Given the description of an element on the screen output the (x, y) to click on. 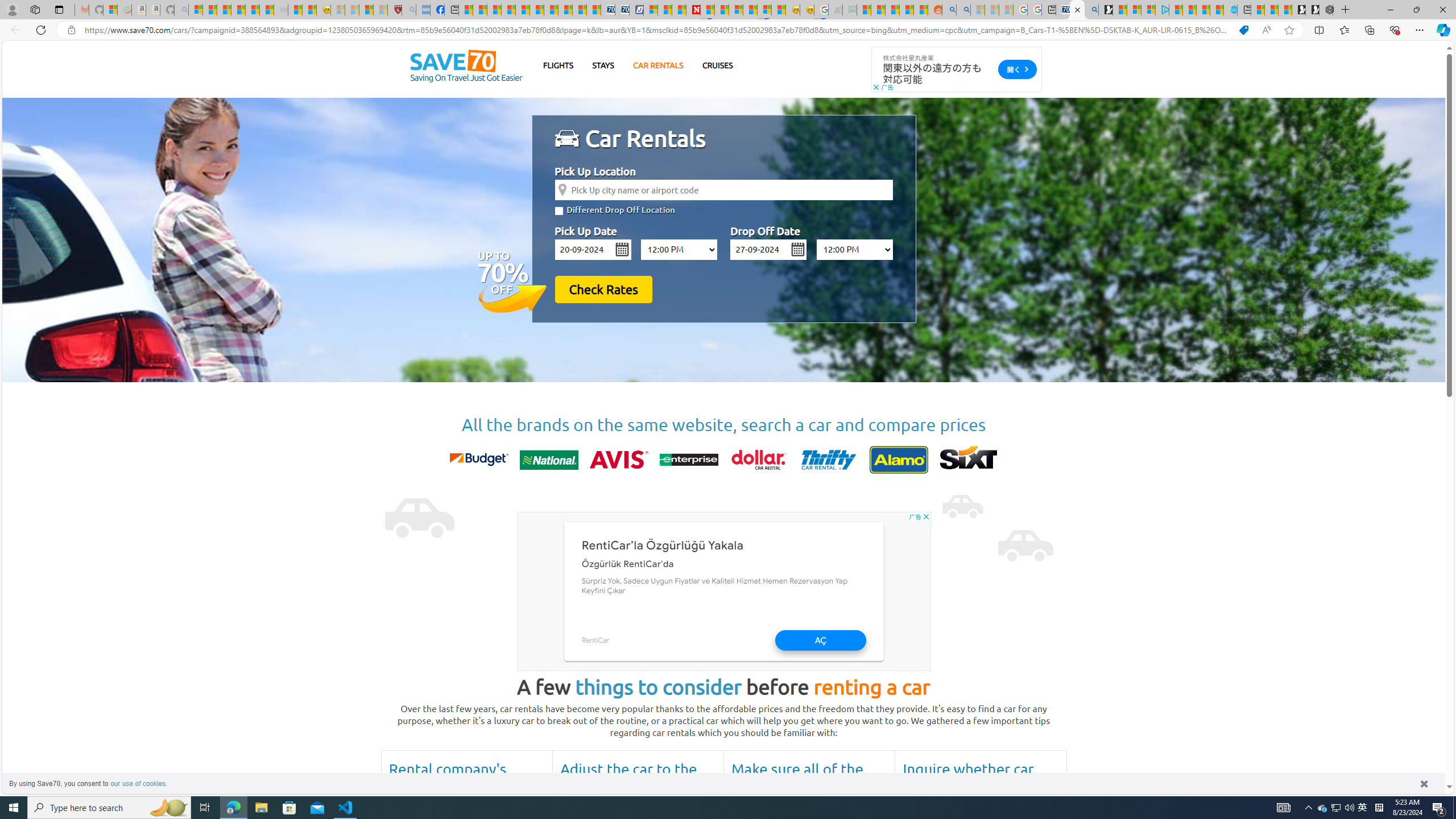
enterprice (688, 459)
Home | Sky Blue Bikes - Sky Blue Bikes (1229, 9)
New tab (1243, 9)
14 Common Myths Debunked By Scientific Facts (721, 9)
Newsweek - News, Analysis, Politics, Business, Technology (692, 9)
Cheap Hotels - Save70.com (622, 9)
RentiCar (595, 640)
learn more about cookies (138, 783)
Combat Siege - Sleeping (280, 9)
Robert H. Shmerling, MD - Harvard Health (394, 9)
Copilot (Ctrl+Shift+.) (1442, 29)
